Given the description of an element on the screen output the (x, y) to click on. 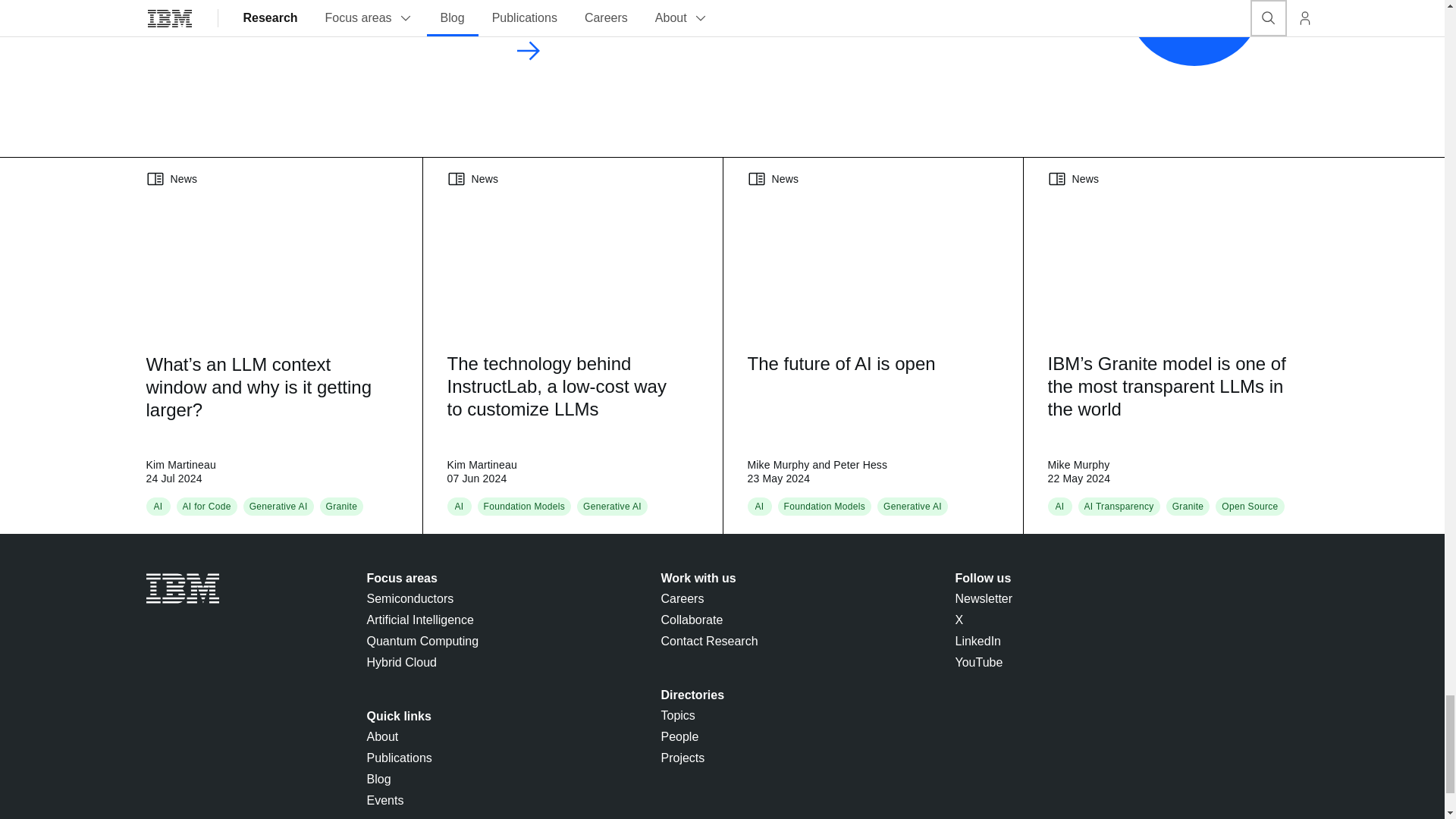
Granite (342, 506)
Generative AI (277, 506)
Generative AI (912, 506)
IBM Logo (181, 588)
Foundation Models (825, 506)
AI for Code (206, 506)
AI Transparency (1119, 506)
Generative AI (612, 506)
Foundation Models (524, 506)
